Given the description of an element on the screen output the (x, y) to click on. 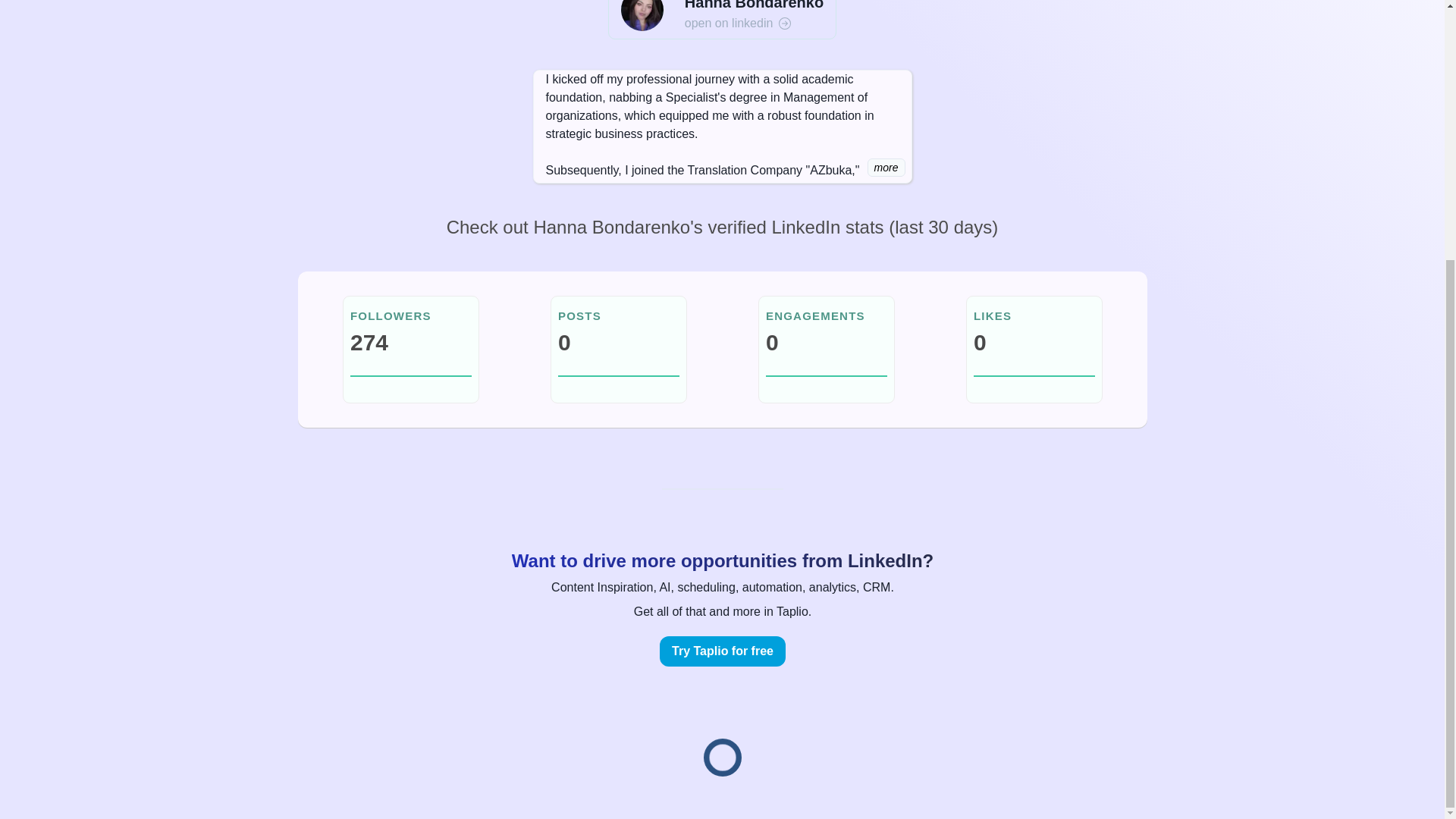
Try Taplio for free (722, 650)
more (886, 167)
open on linkedin (754, 23)
